Given the description of an element on the screen output the (x, y) to click on. 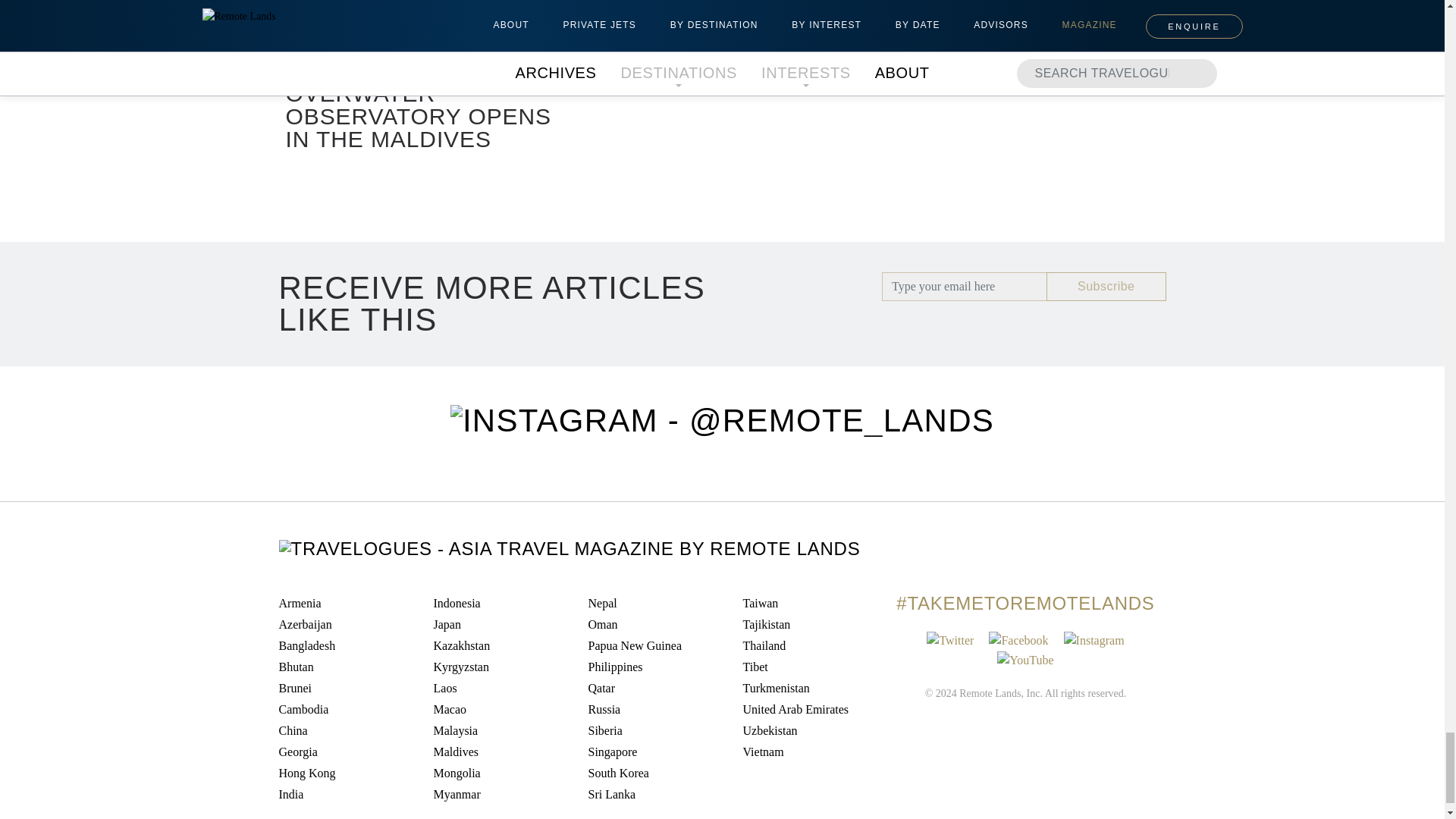
Subscribe (1106, 286)
